Given the description of an element on the screen output the (x, y) to click on. 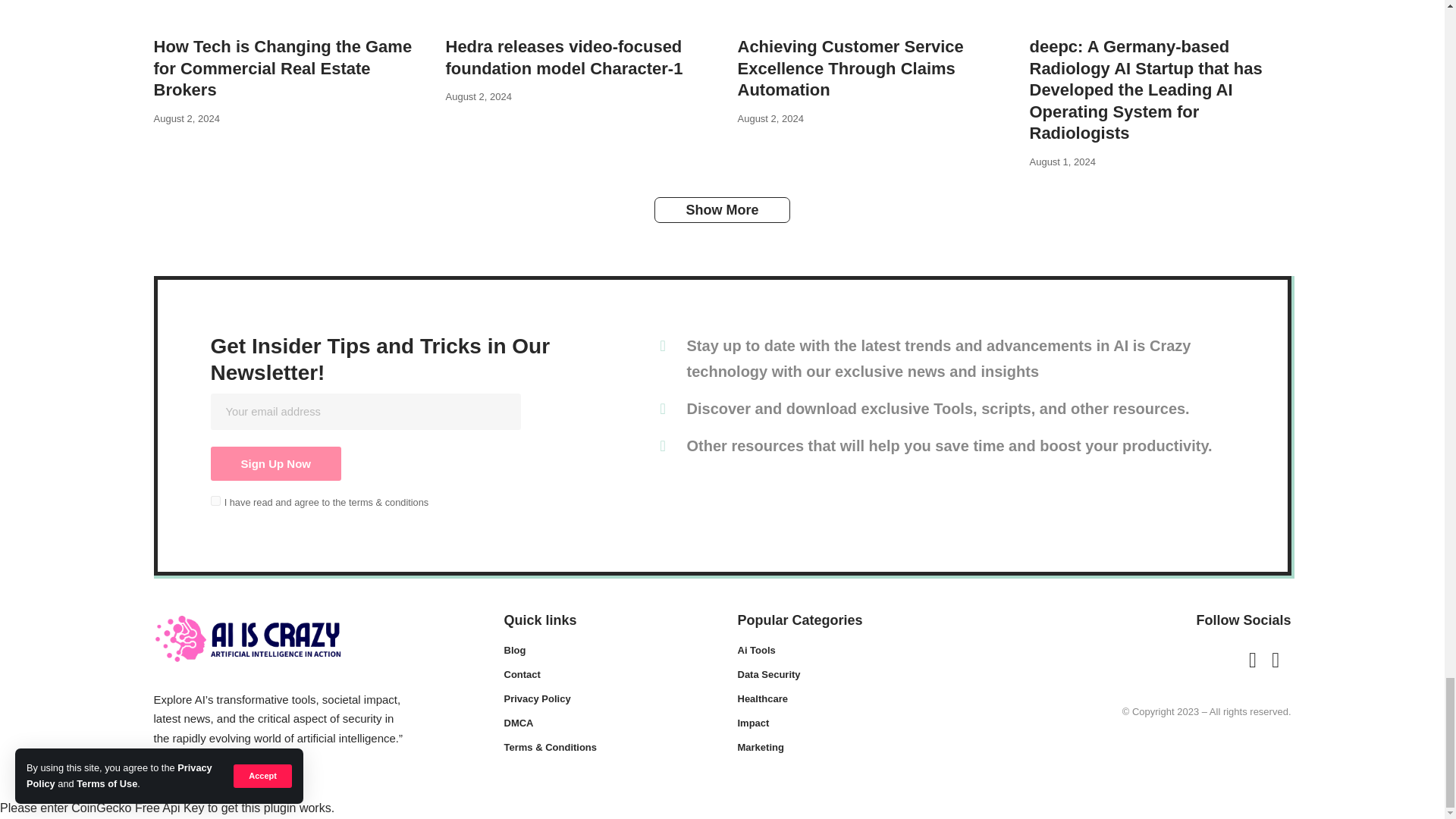
Hedra releases video-focused foundation model Character-1 (576, 13)
Sign Up Now (276, 463)
1 (216, 501)
